Given the description of an element on the screen output the (x, y) to click on. 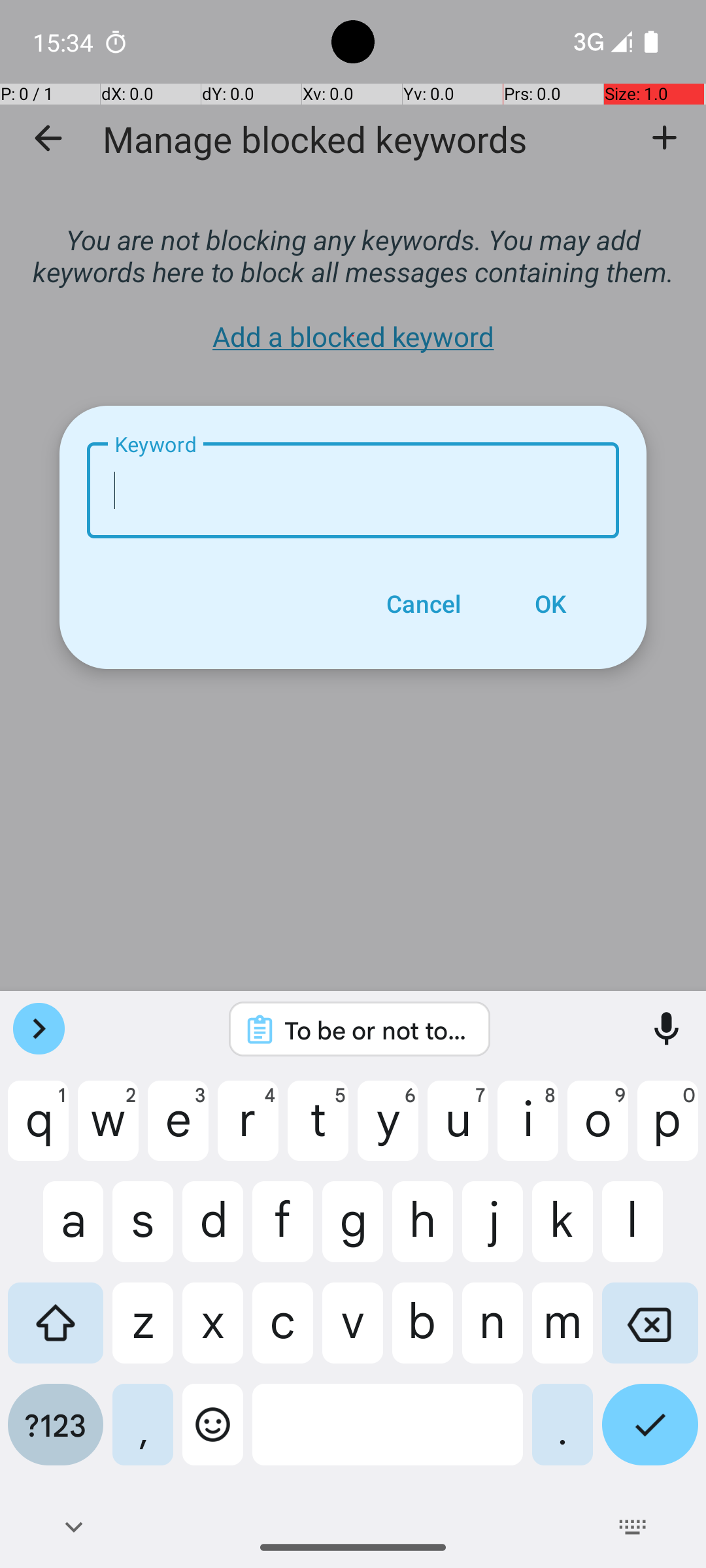
Keyword Element type: android.widget.EditText (352, 490)
